Given the description of an element on the screen output the (x, y) to click on. 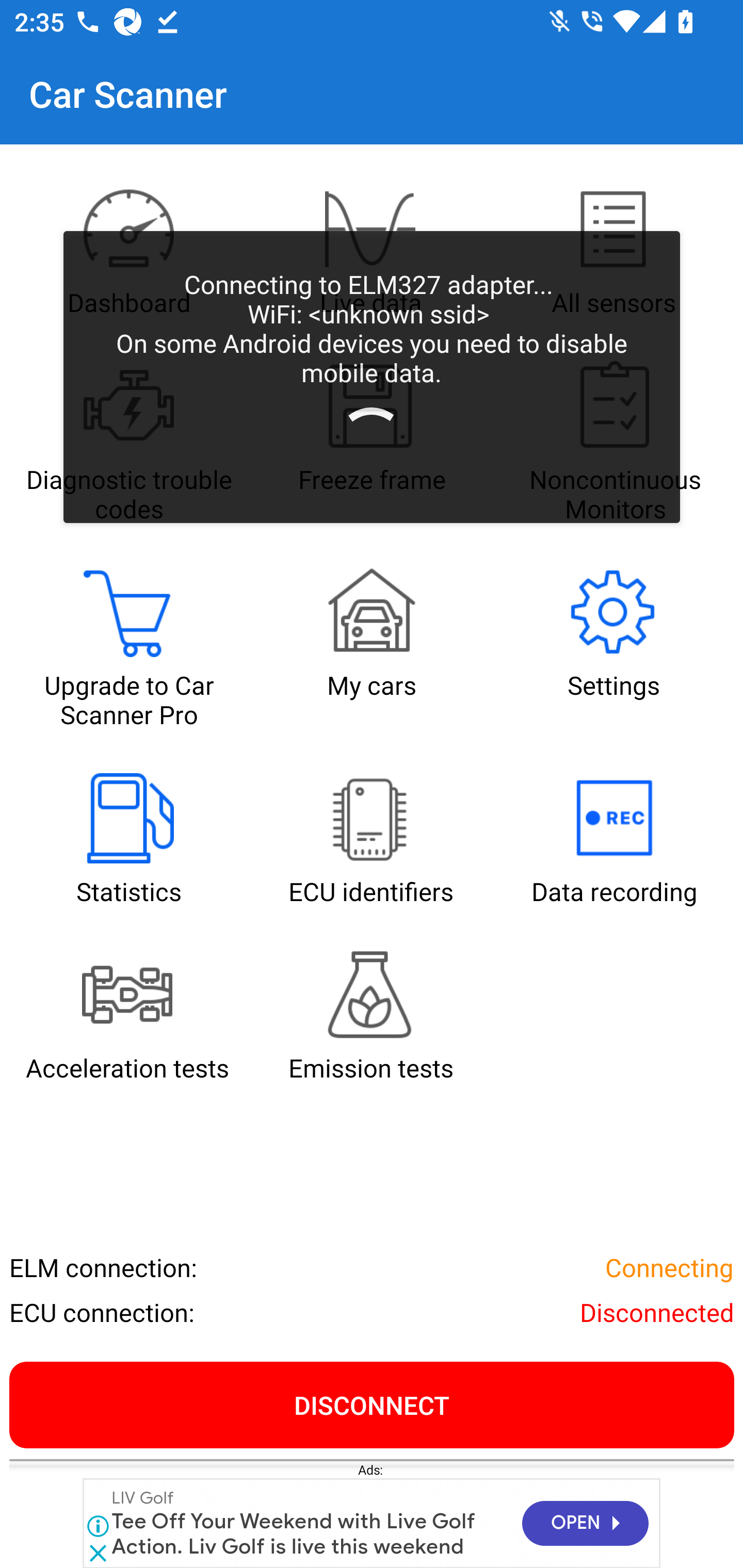
DISCONNECT (371, 1404)
LIV Golf (142, 1497)
OPEN (584, 1523)
